Given the description of an element on the screen output the (x, y) to click on. 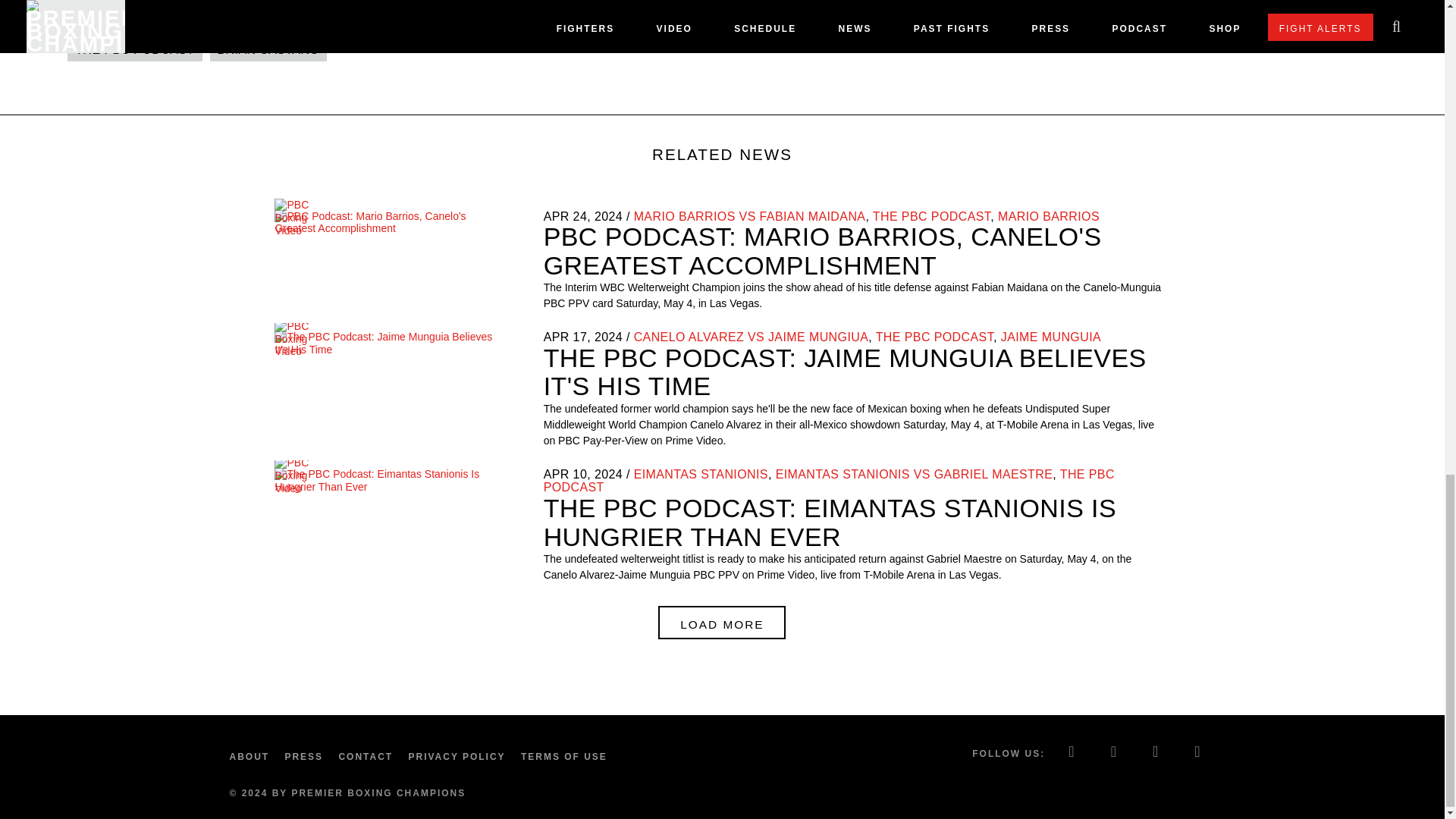
Instagram (1155, 753)
THE PBC PODCAST (134, 49)
Facebook (1071, 753)
April (556, 336)
BRIAN CASTANO (268, 49)
Twitter (1114, 753)
April (556, 215)
You Tube (1197, 753)
April (556, 473)
